Given the description of an element on the screen output the (x, y) to click on. 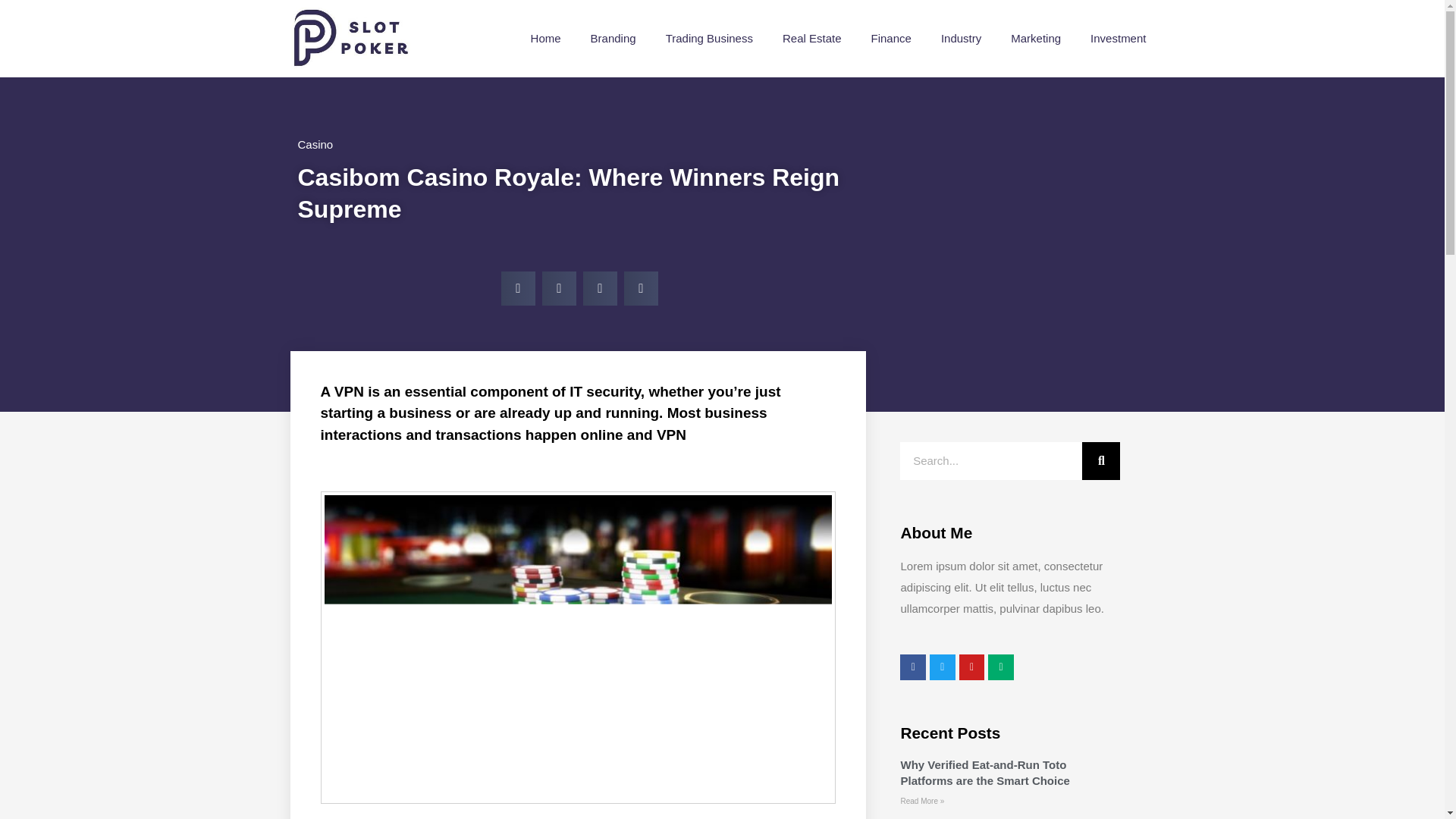
Trading Business (709, 38)
Investment (1117, 38)
Search (1100, 460)
Casino (315, 144)
Why Verified Eat-and-Run Toto Platforms are the Smart Choice (983, 772)
Search (990, 460)
Real Estate (812, 38)
